Given the description of an element on the screen output the (x, y) to click on. 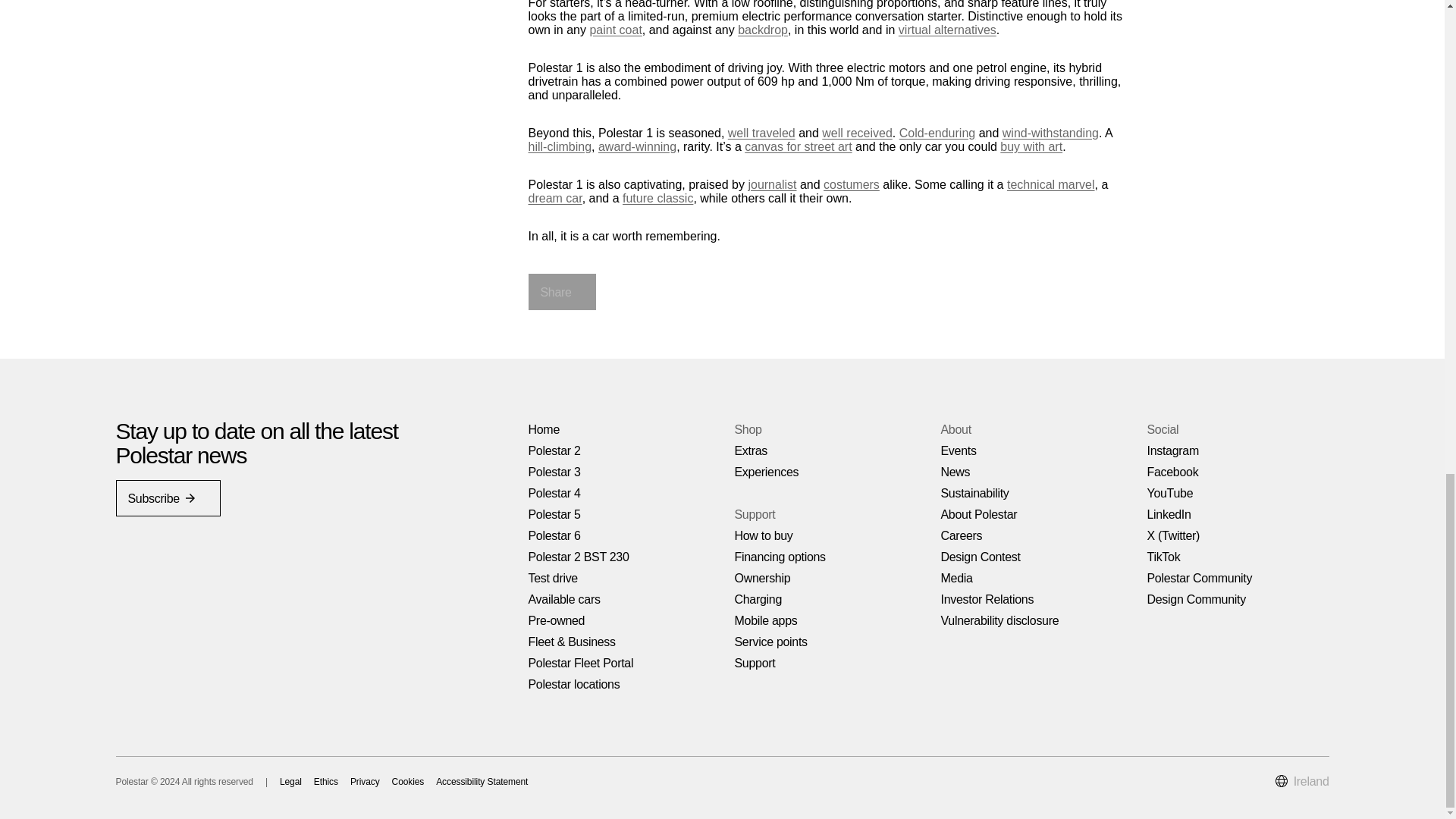
backdrop (762, 29)
well traveled (761, 132)
Cold-enduring (937, 132)
paint coat (615, 29)
virtual alternatives (946, 29)
well received (856, 132)
